Given the description of an element on the screen output the (x, y) to click on. 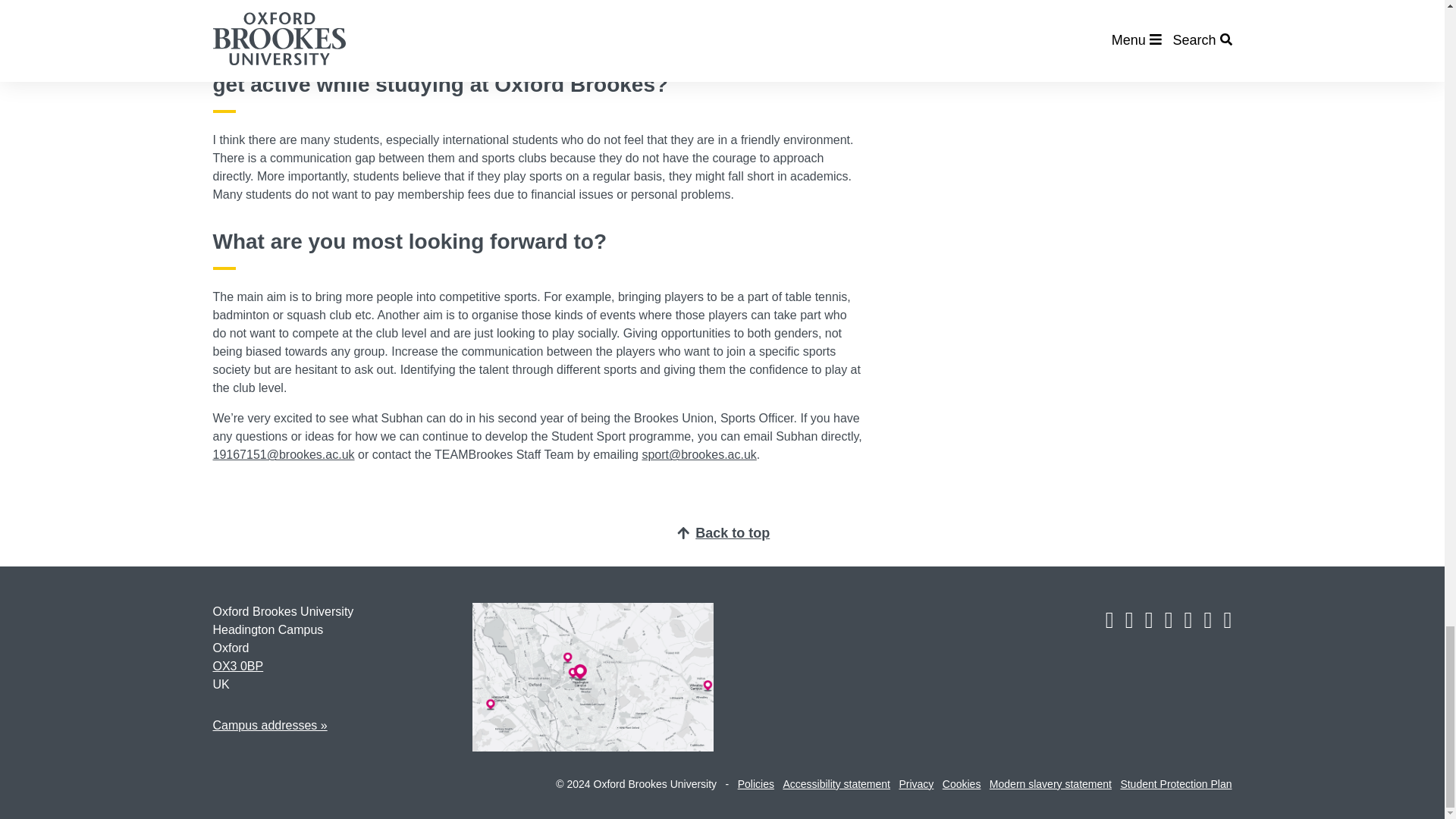
Campus Addresses (269, 725)
